Given the description of an element on the screen output the (x, y) to click on. 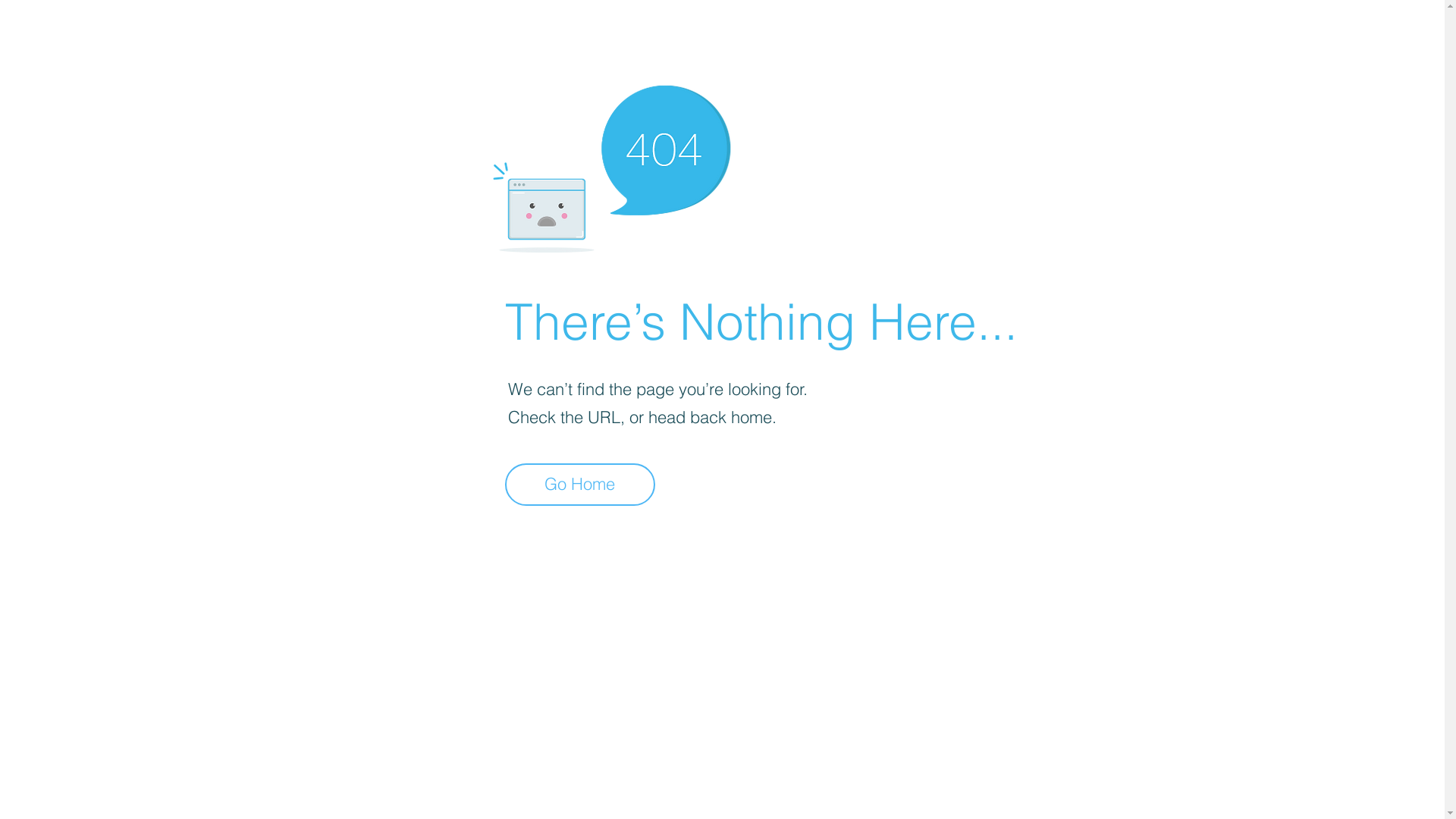
404-icon_2.png Element type: hover (610, 164)
Go Home Element type: text (580, 484)
